Given the description of an element on the screen output the (x, y) to click on. 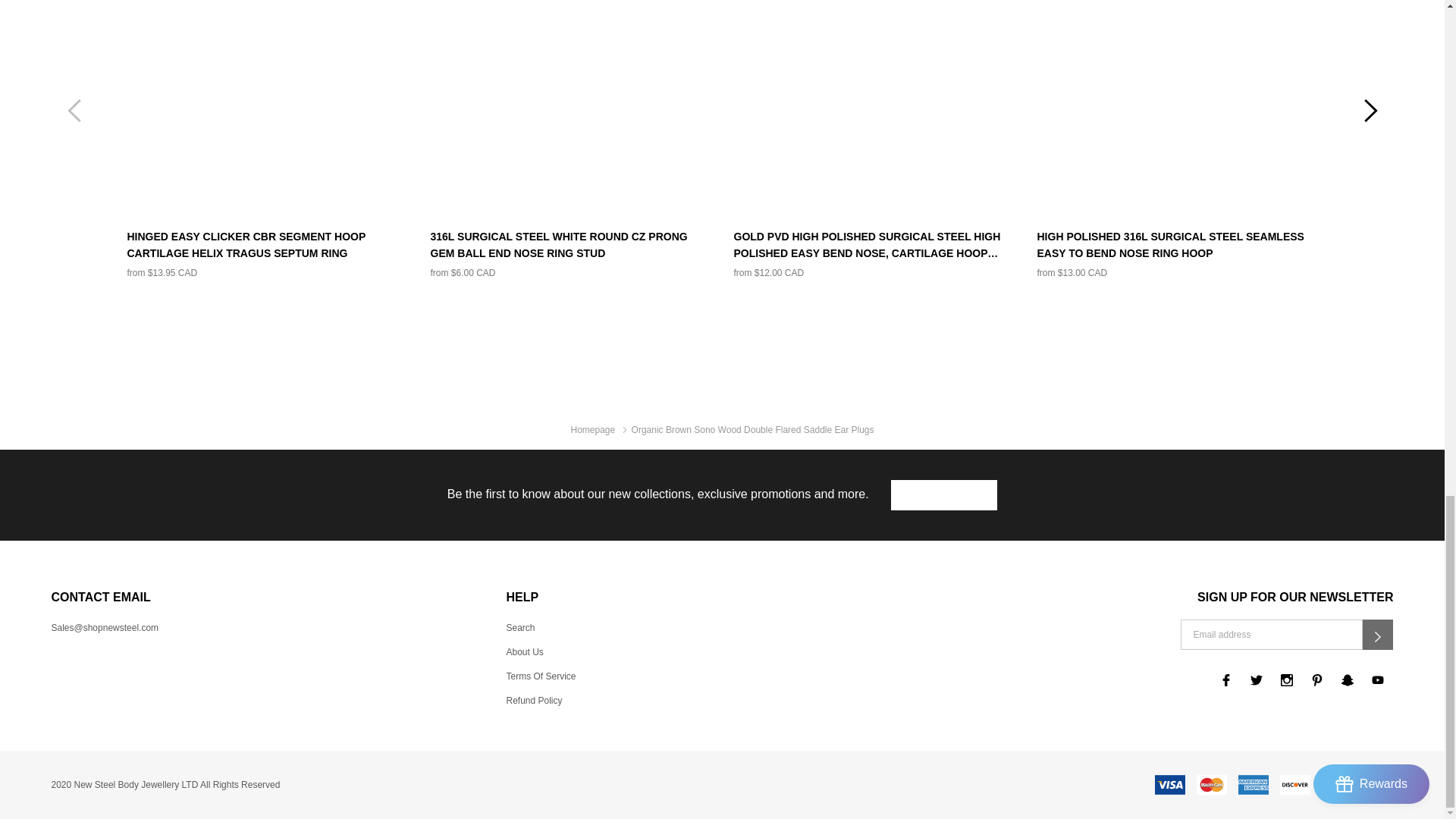
Pinterest (1316, 680)
Snapchat (1347, 680)
Facebook (1226, 680)
YouTube (1377, 680)
Instagram (1286, 680)
Twitter (1256, 680)
